Given the description of an element on the screen output the (x, y) to click on. 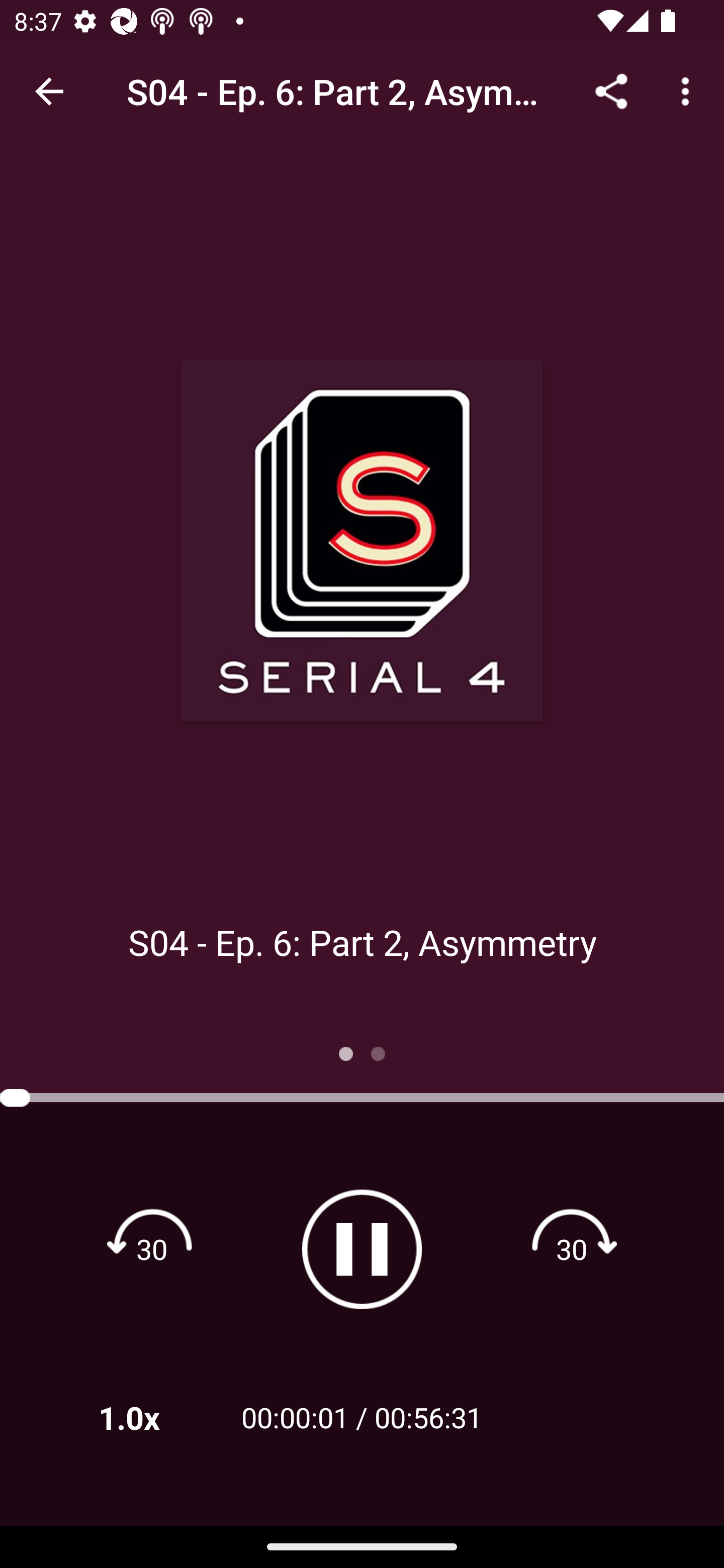
Navigate up (49, 91)
Share... (611, 90)
More options (688, 90)
Pause (361, 1249)
Rewind (151, 1248)
Fast forward (571, 1248)
1.0x Playback Speeds (154, 1417)
00:56:31 (428, 1417)
